Given the description of an element on the screen output the (x, y) to click on. 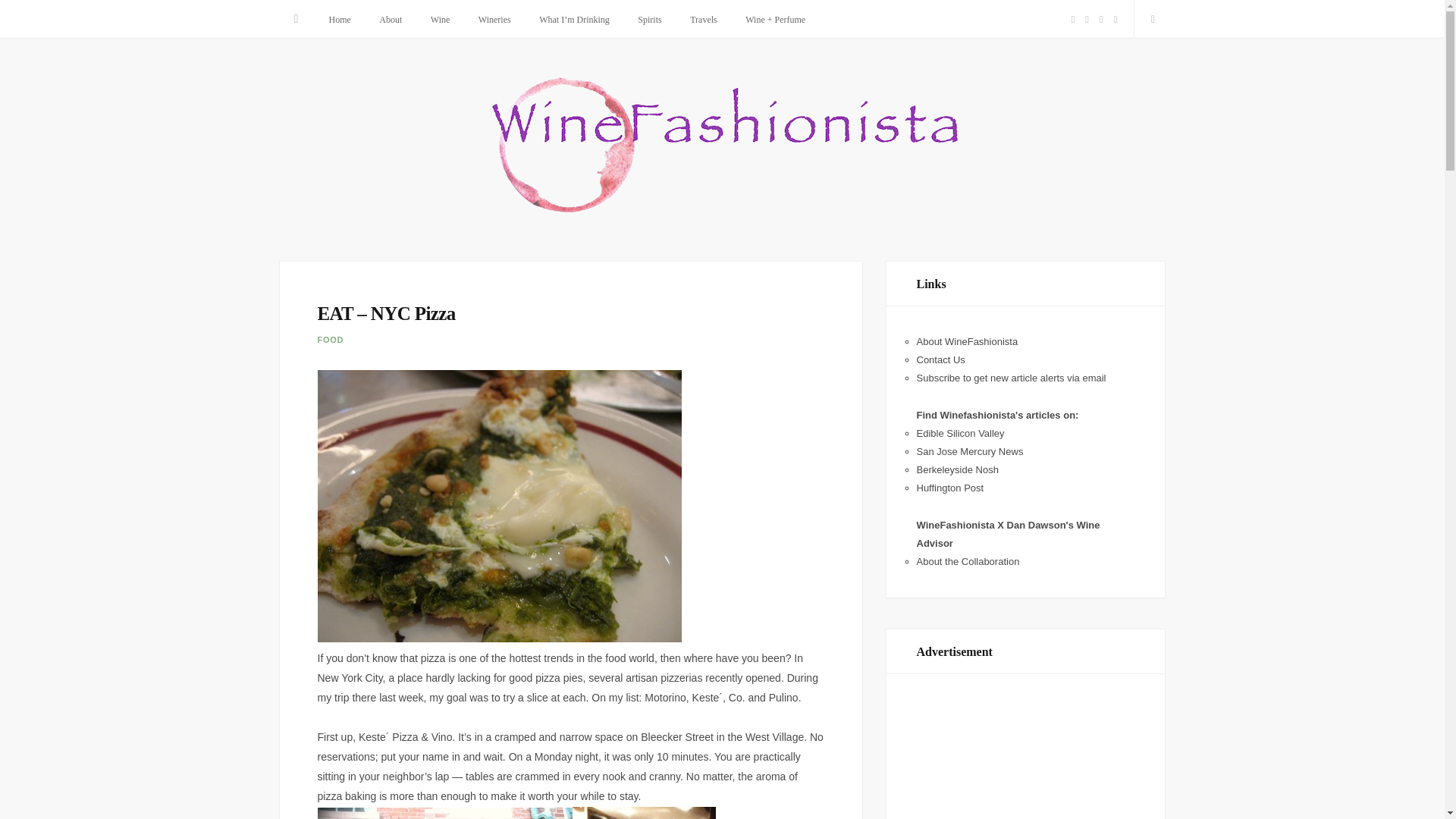
Travels (703, 19)
Wine (440, 19)
Facebook (1072, 19)
Advertisement (1024, 760)
Menu (296, 18)
About (390, 19)
Home (338, 19)
Search (1150, 18)
Wineries (494, 19)
Instagram (1115, 19)
FOOD (330, 338)
Spirits (649, 19)
Twitter (1087, 19)
Pinterest (1101, 19)
WineFashionista (721, 147)
